Given the description of an element on the screen output the (x, y) to click on. 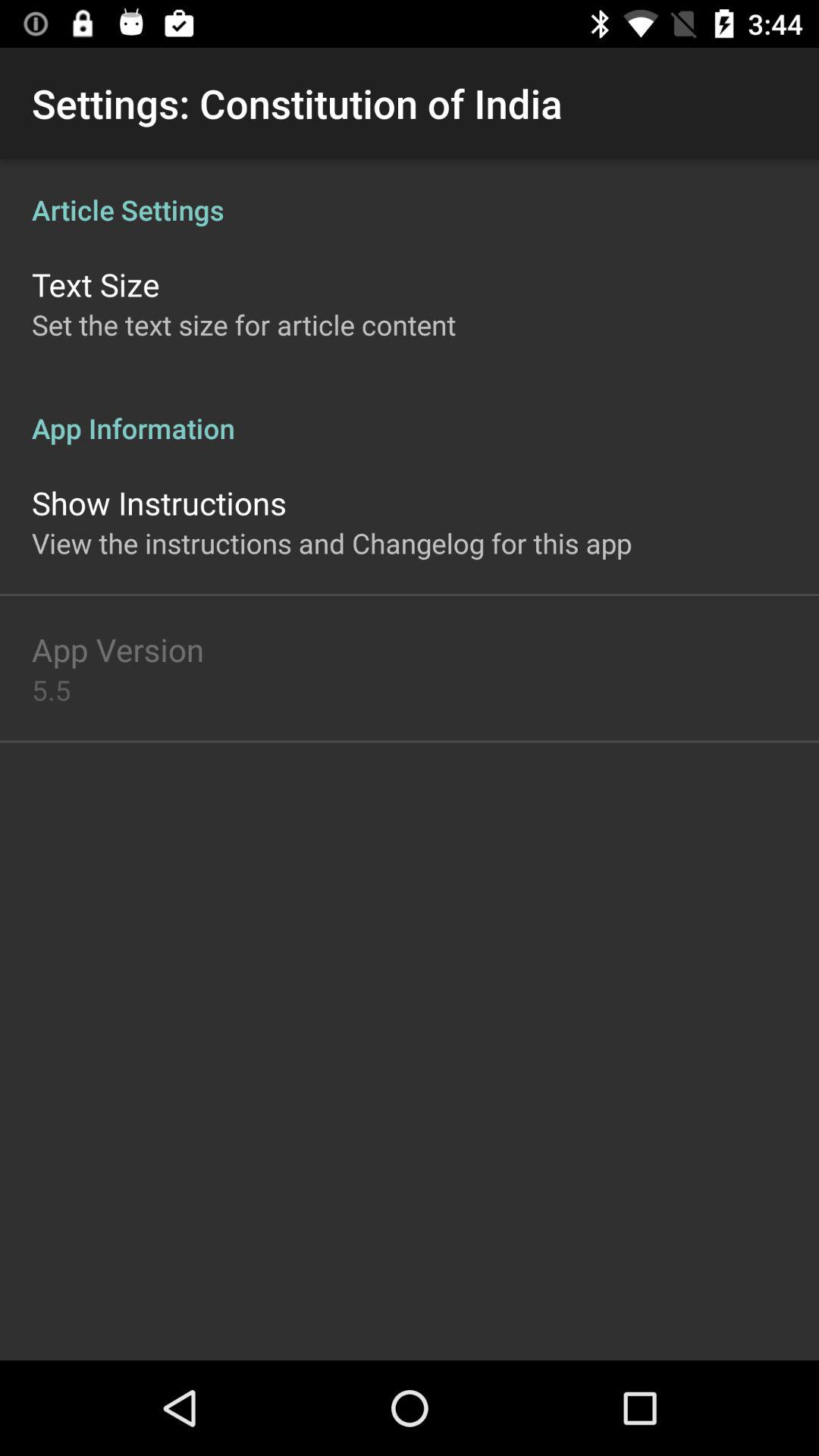
press the view the instructions (331, 542)
